Given the description of an element on the screen output the (x, y) to click on. 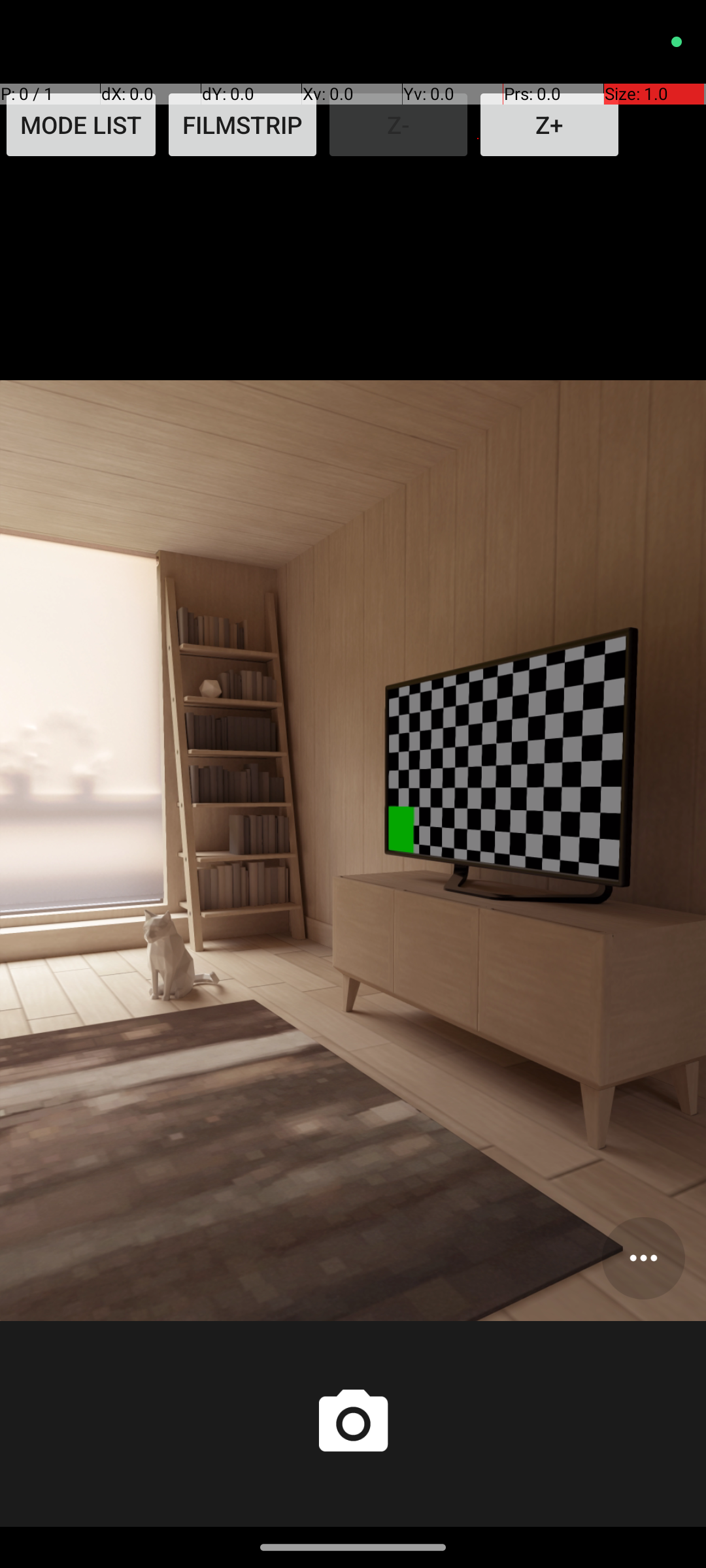
Options Element type: android.widget.LinearLayout (643, 1258)
